Given the description of an element on the screen output the (x, y) to click on. 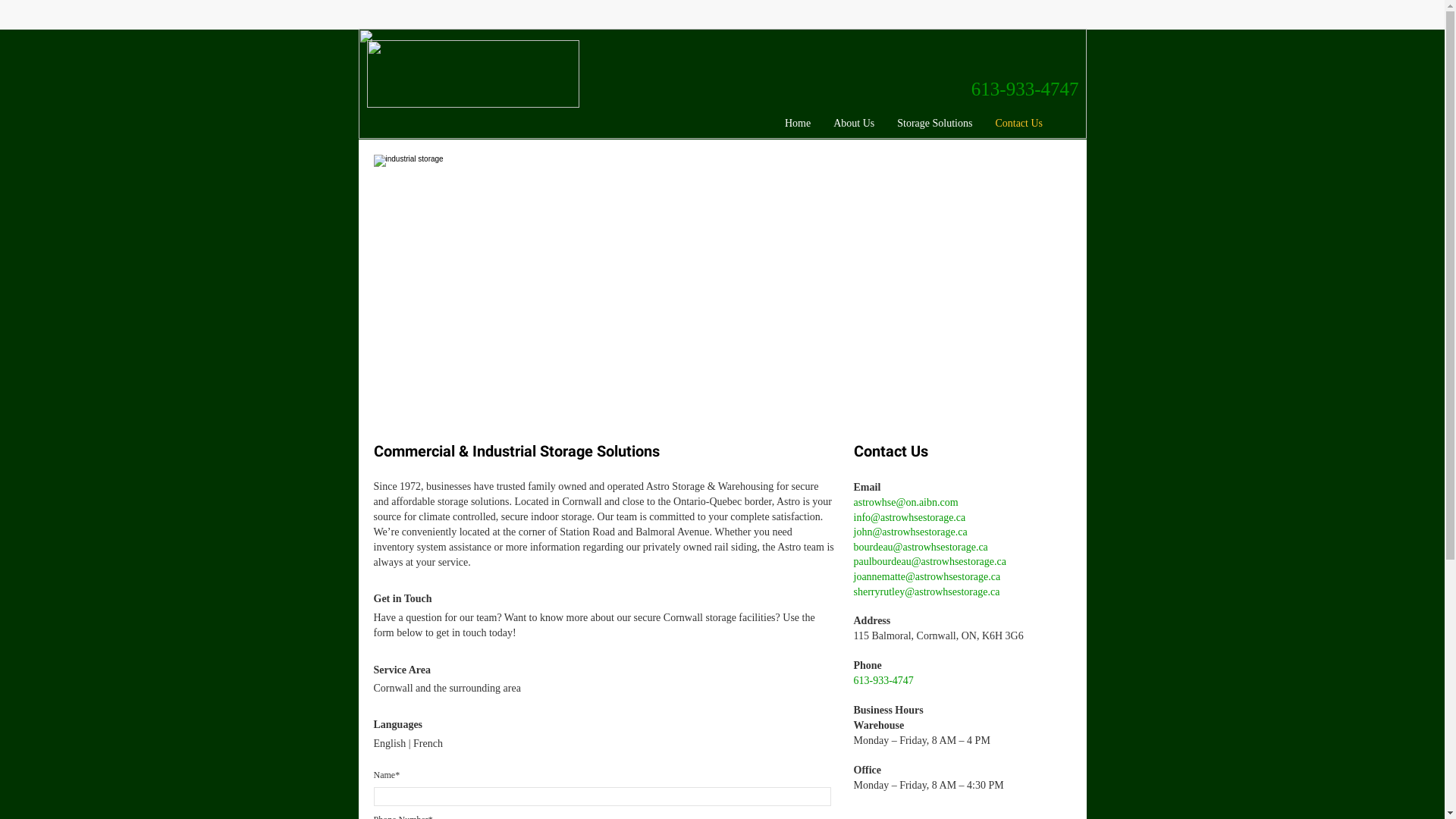
About Us Element type: text (857, 123)
Embedded Content Element type: hover (973, 14)
Contact Us Element type: text (1022, 123)
joannematte@astrowhsestorage.ca Element type: text (927, 577)
info@astrowhsestorage.ca Element type: text (909, 518)
613-933-4747 Element type: text (883, 681)
bourdeau@astrowhsestorage.ca Element type: text (920, 547)
613-933-4747 Element type: text (1025, 92)
john@astrowhsestorage.ca Element type: text (910, 532)
astrowhse@on.aibn.com Element type: text (905, 502)
Embedded Content Element type: hover (1066, 19)
Home Element type: text (801, 123)
sherryrutley@astrowhsestorage.ca Element type: text (926, 592)
paulbourdeau@astrowhsestorage.ca Element type: text (929, 562)
Storage Solutions Element type: text (938, 123)
